Given the description of an element on the screen output the (x, y) to click on. 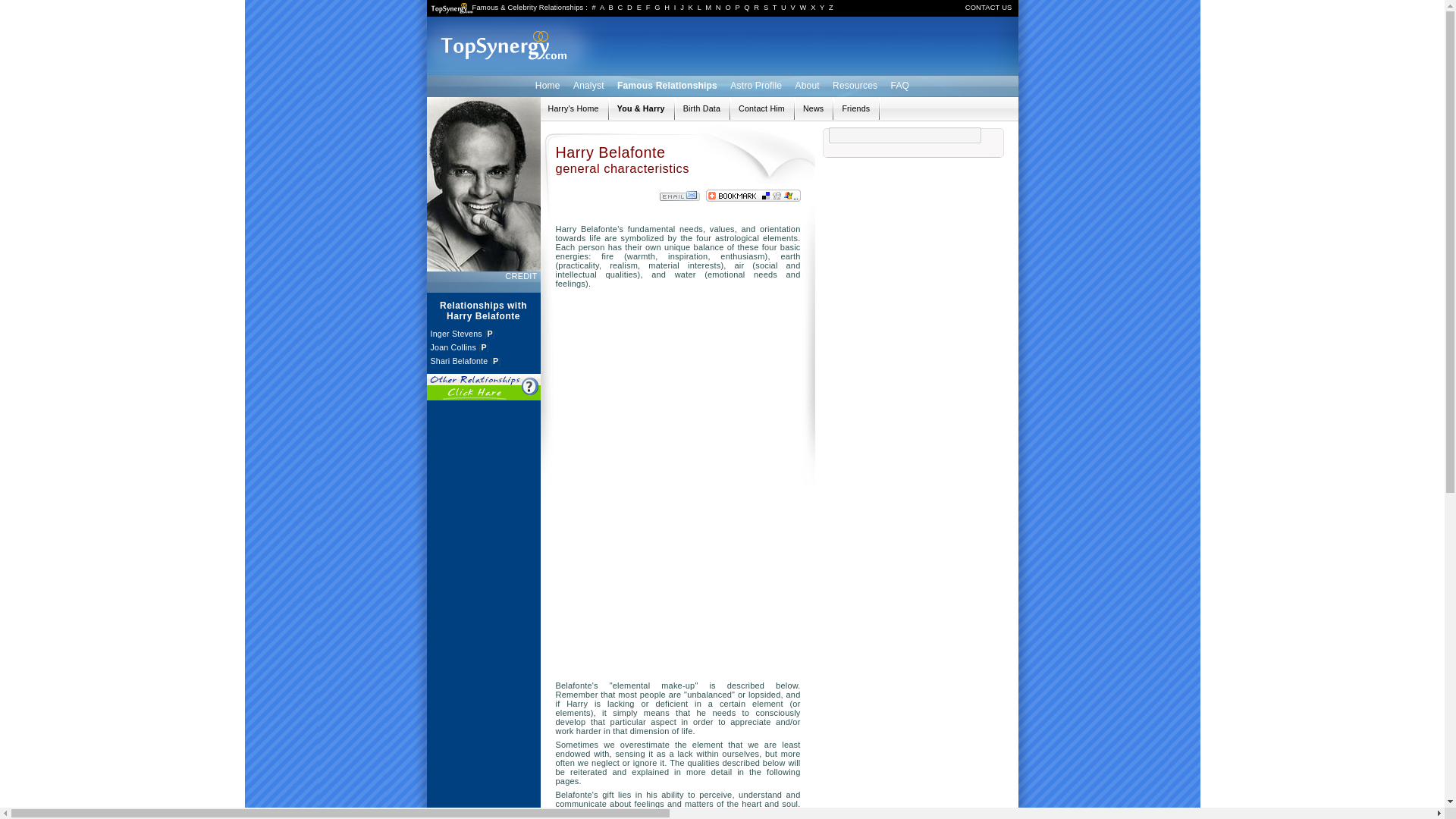
FAQ (900, 85)
Resources (854, 85)
Astrological birth data for Harry Belafonte (701, 108)
About (806, 85)
Harry's news (813, 108)
Contact Harry Belafonte (761, 108)
Relationships with Harry Belafonte (572, 108)
Joan Collins (453, 347)
Search (1149, 158)
Famous Relationships (666, 85)
